Given the description of an element on the screen output the (x, y) to click on. 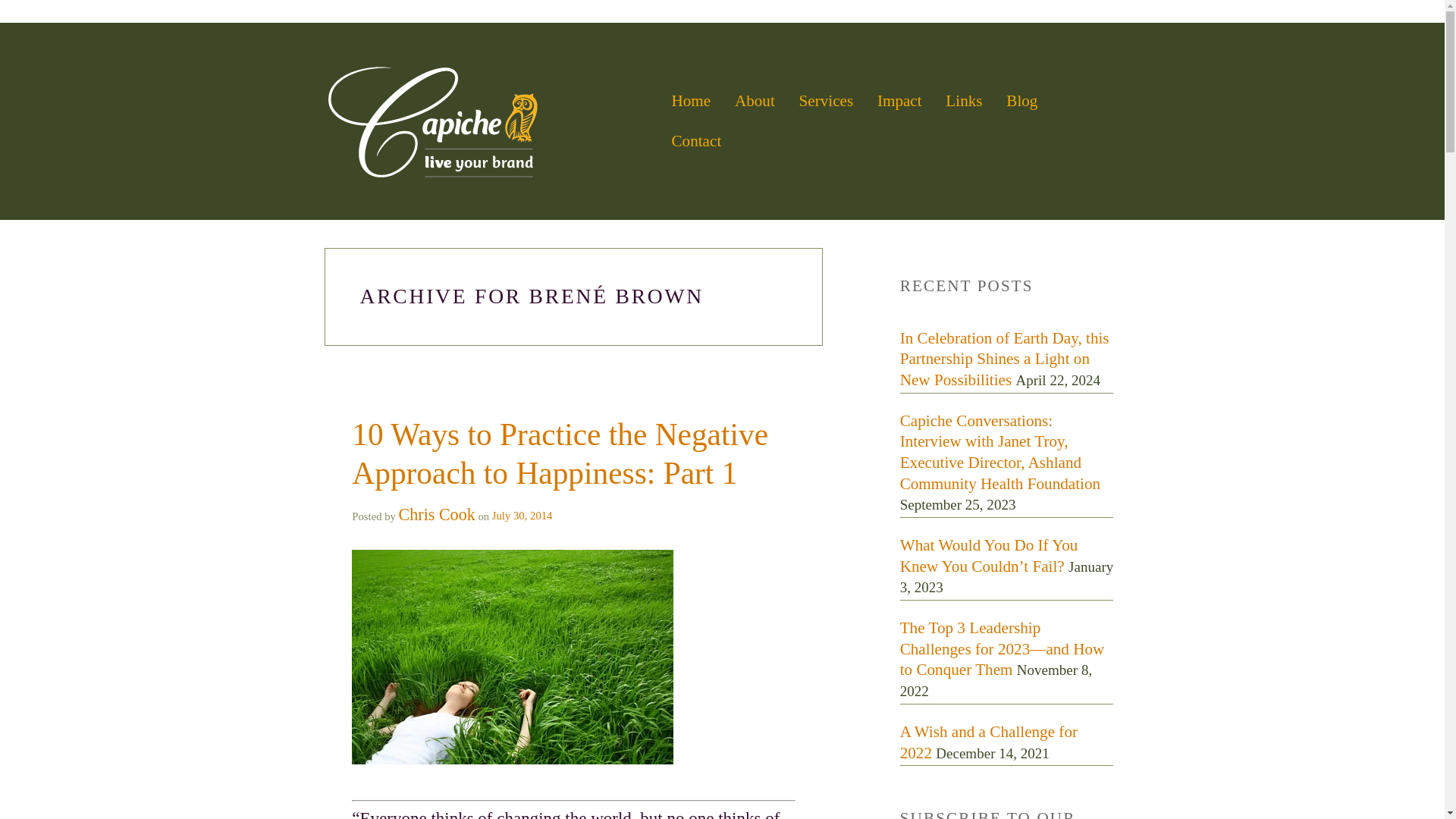
Capiche (491, 121)
Links (962, 100)
Chris Cook (437, 514)
 July 30, 2014 (520, 515)
About (754, 100)
Contact (695, 141)
Blog (1021, 100)
Chris Cook (437, 514)
Impact (899, 100)
Home (690, 100)
Services (825, 100)
